Given the description of an element on the screen output the (x, y) to click on. 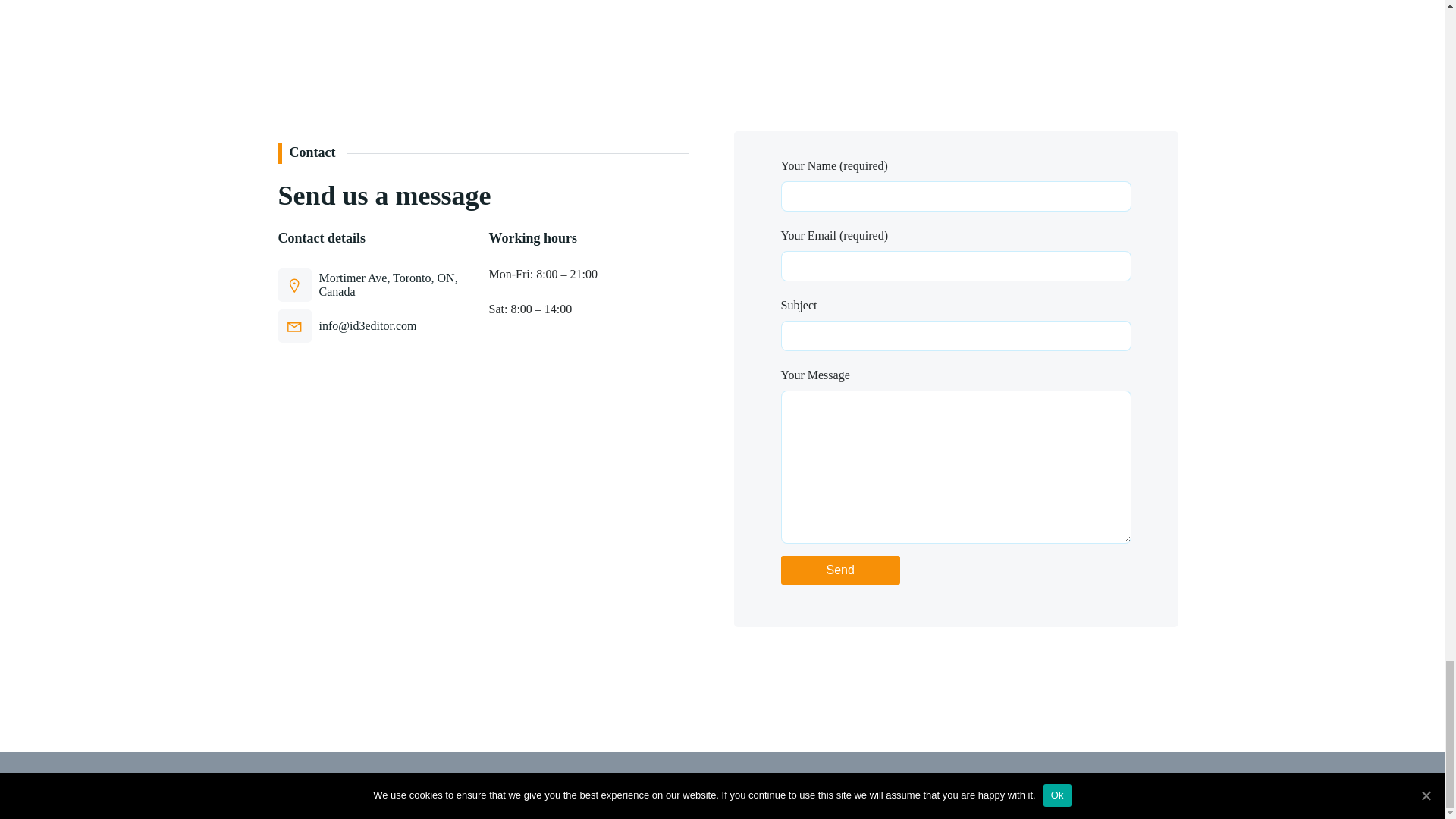
Colibri (949, 784)
Send (839, 570)
Send (839, 570)
